Given the description of an element on the screen output the (x, y) to click on. 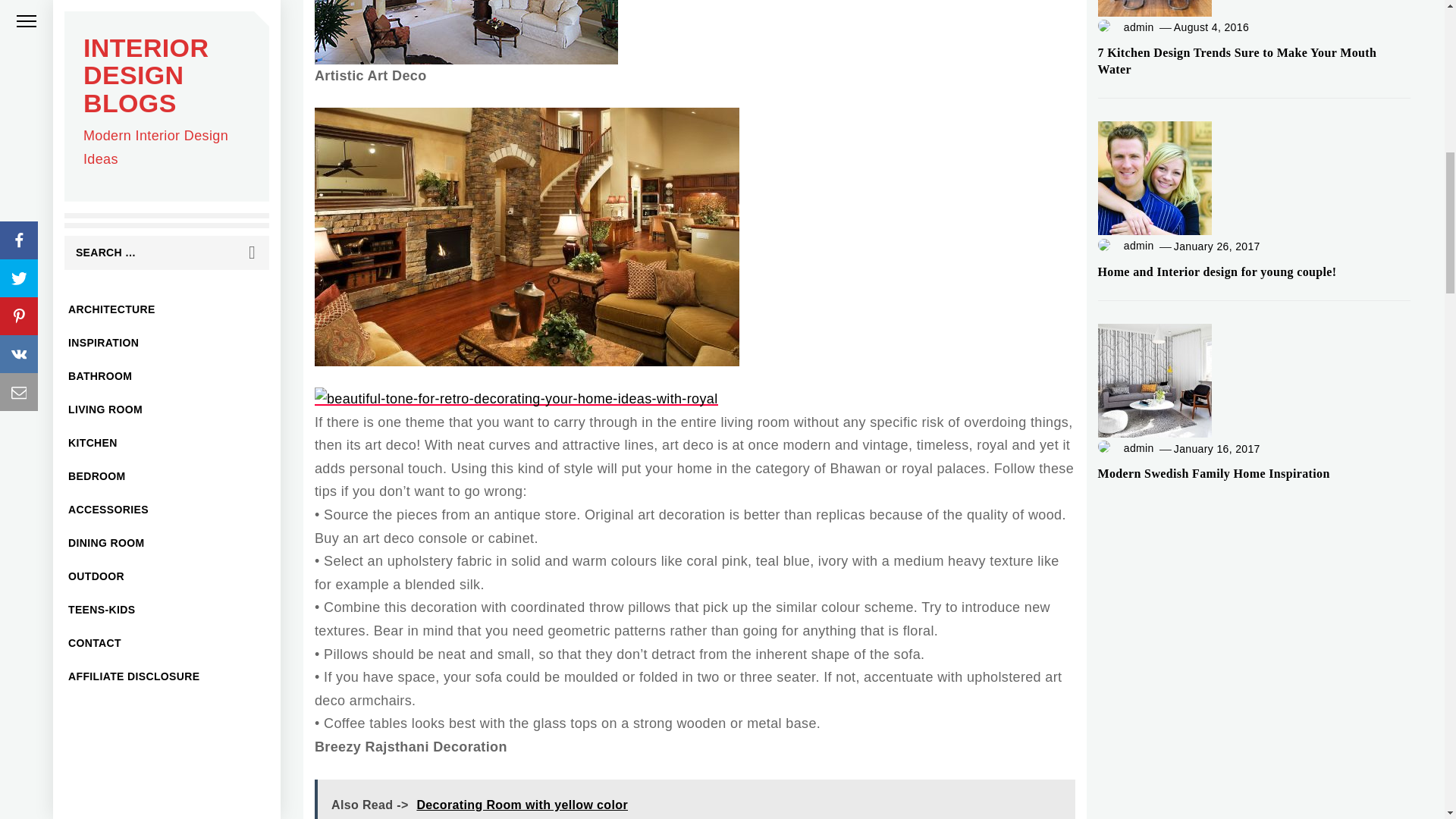
How to add royalty to your space? (465, 32)
How to add royalty to your space? (515, 399)
How to add royalty to your space? (526, 236)
